Given the description of an element on the screen output the (x, y) to click on. 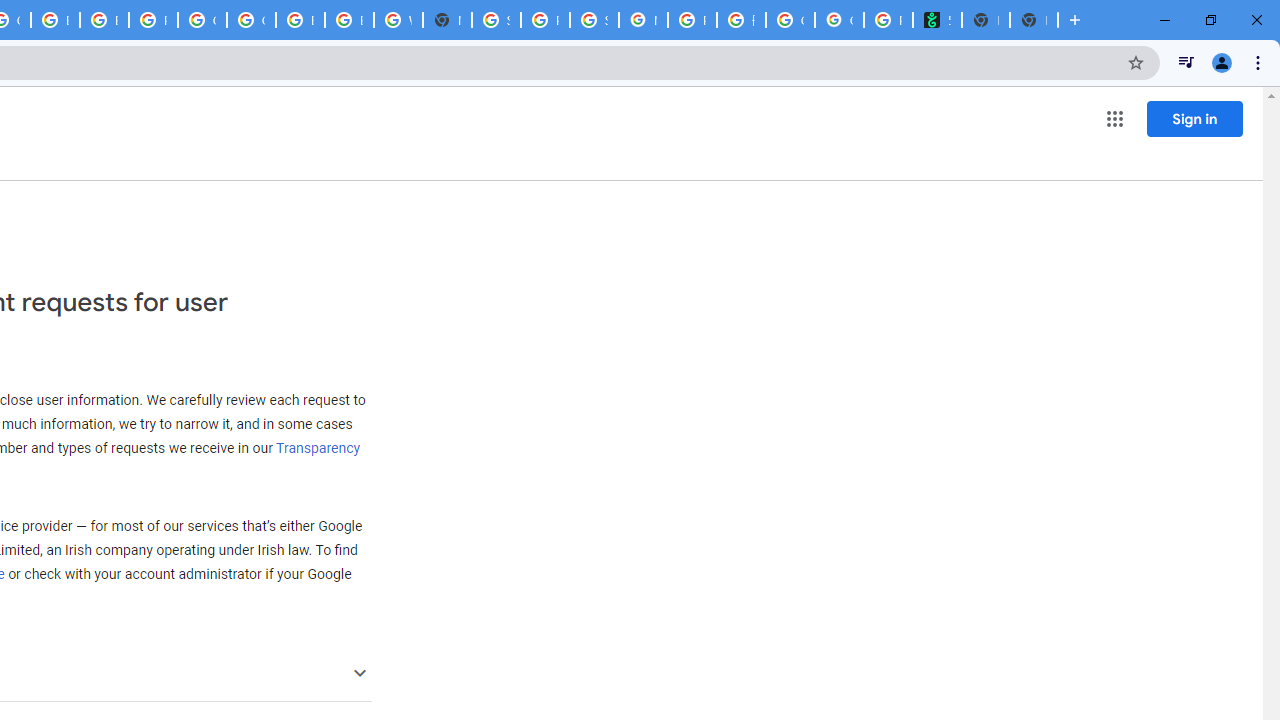
Google Cloud Platform (201, 20)
New Tab (447, 20)
Browse Chrome as a guest - Computer - Google Chrome Help (55, 20)
Browse Chrome as a guest - Computer - Google Chrome Help (300, 20)
